Given the description of an element on the screen output the (x, y) to click on. 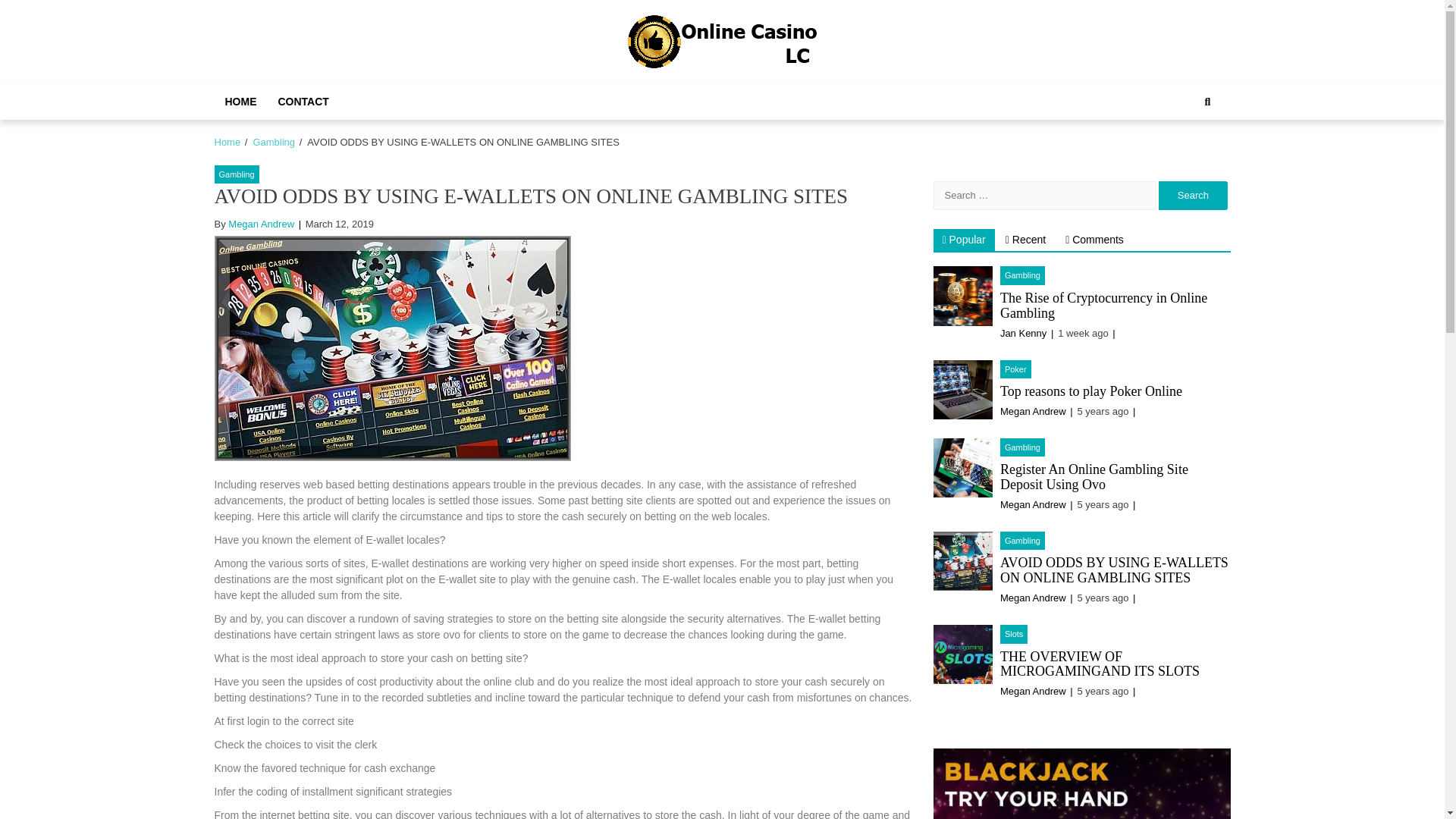
Popular (963, 240)
Poker (1015, 369)
Megan Andrew (1032, 504)
Gambling (236, 174)
Megan Andrew (261, 224)
Slots (1013, 633)
Online Casino LC (726, 85)
The Rise of Cryptocurrency in Online Gambling (1103, 305)
Gambling (1022, 275)
THE OVERVIEW OF MICROGAMINGAND ITS SLOTS (1099, 664)
Comments (1094, 240)
Recent (1024, 240)
Jan Kenny (1023, 333)
Home (227, 142)
Register An Online Gambling Site Deposit Using Ovo (1094, 476)
